Given the description of an element on the screen output the (x, y) to click on. 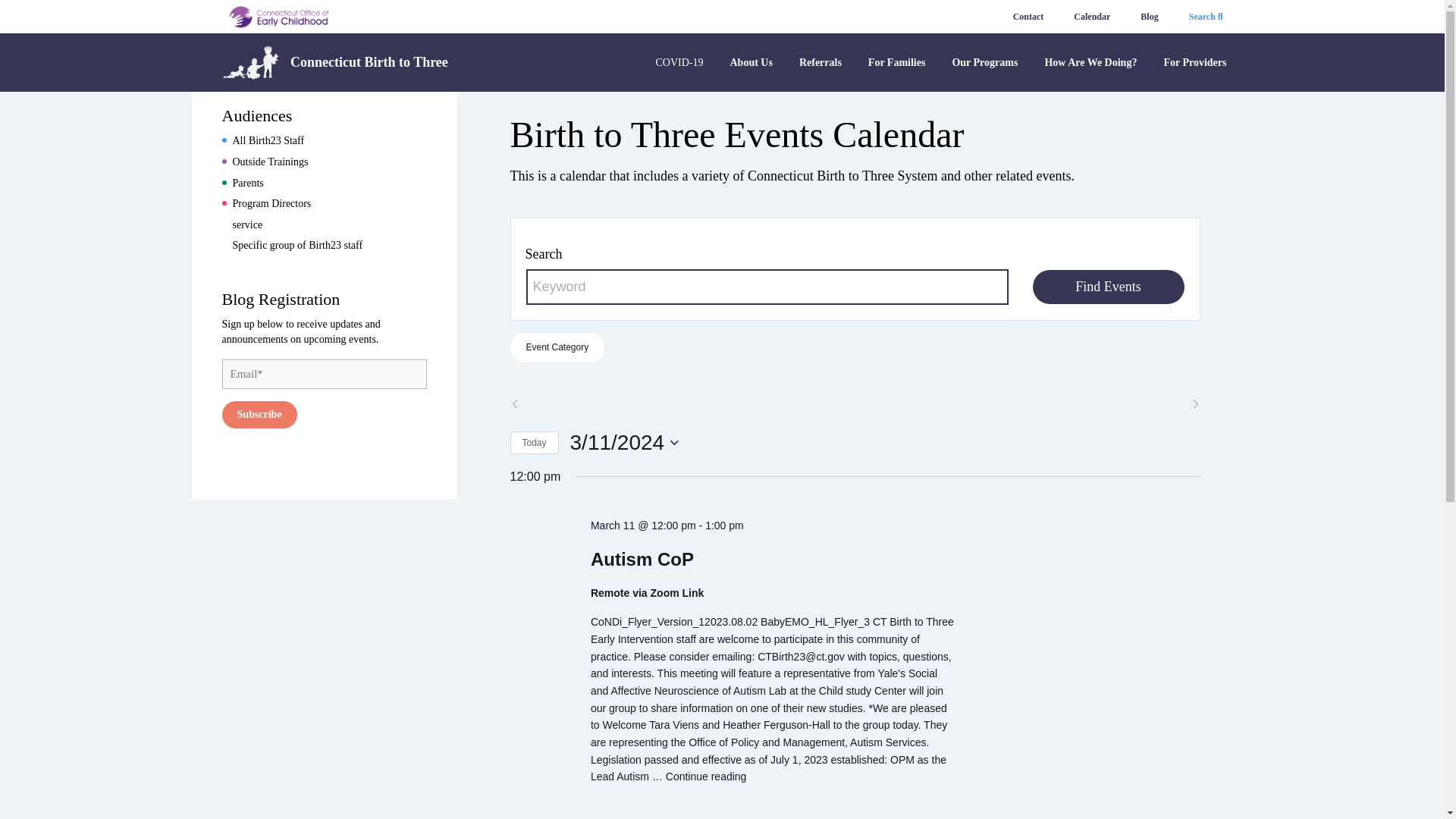
Click to select today's date (533, 443)
Click to toggle datepicker (624, 442)
Contact (1028, 16)
Blog (1148, 16)
Autism CoP (642, 559)
Connecticut Birth to Three (333, 62)
COVID-19 (679, 69)
Previous day (513, 403)
Calendar (1091, 16)
Search (1206, 16)
Subscribe (259, 414)
Next day (1195, 403)
